Given the description of an element on the screen output the (x, y) to click on. 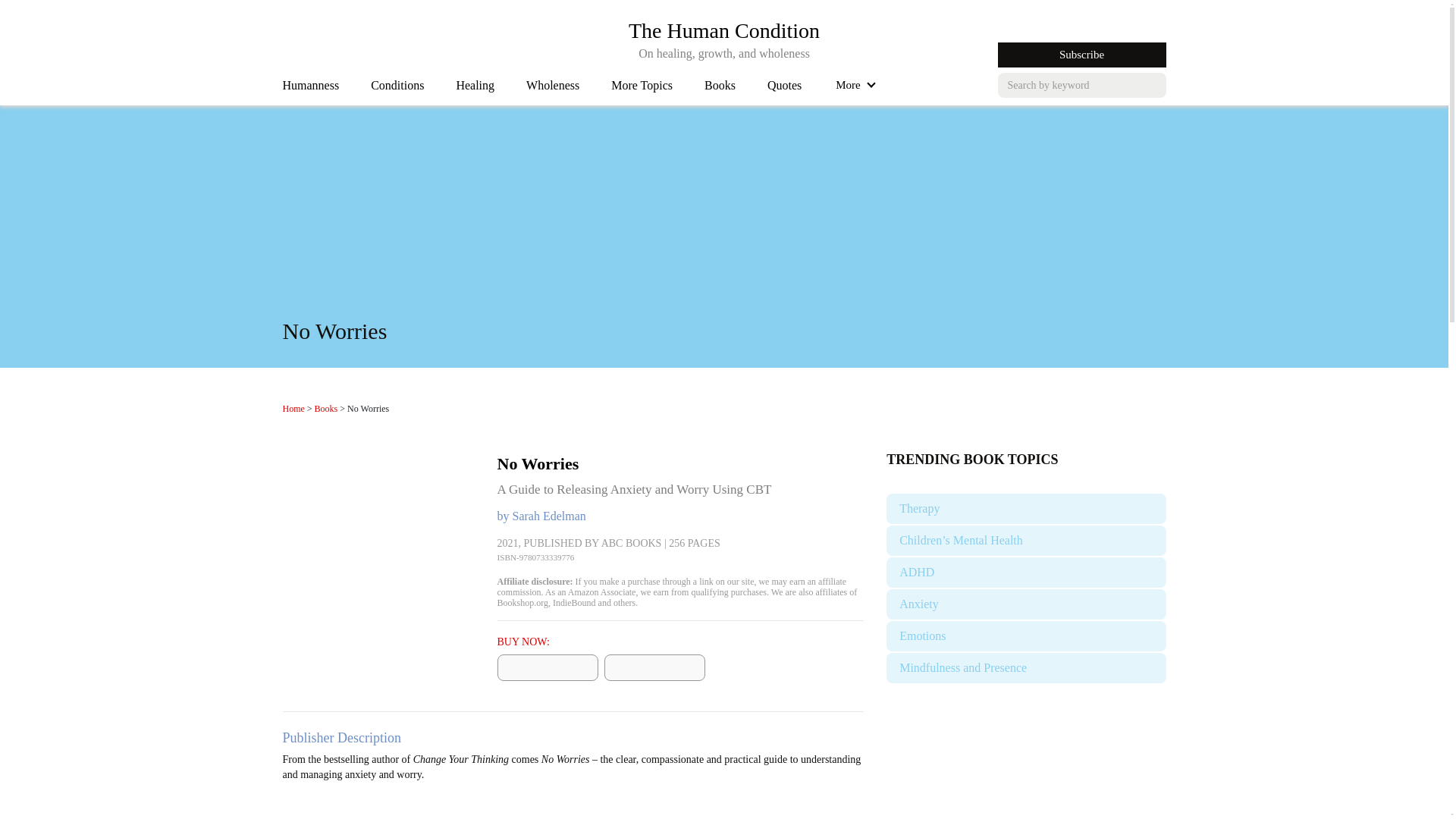
Humanness (310, 88)
Go to The Human Condition. (293, 408)
More Topics (641, 88)
Conditions (397, 88)
Wholeness (723, 29)
Healing (552, 88)
Go to Books. (475, 88)
